Given the description of an element on the screen output the (x, y) to click on. 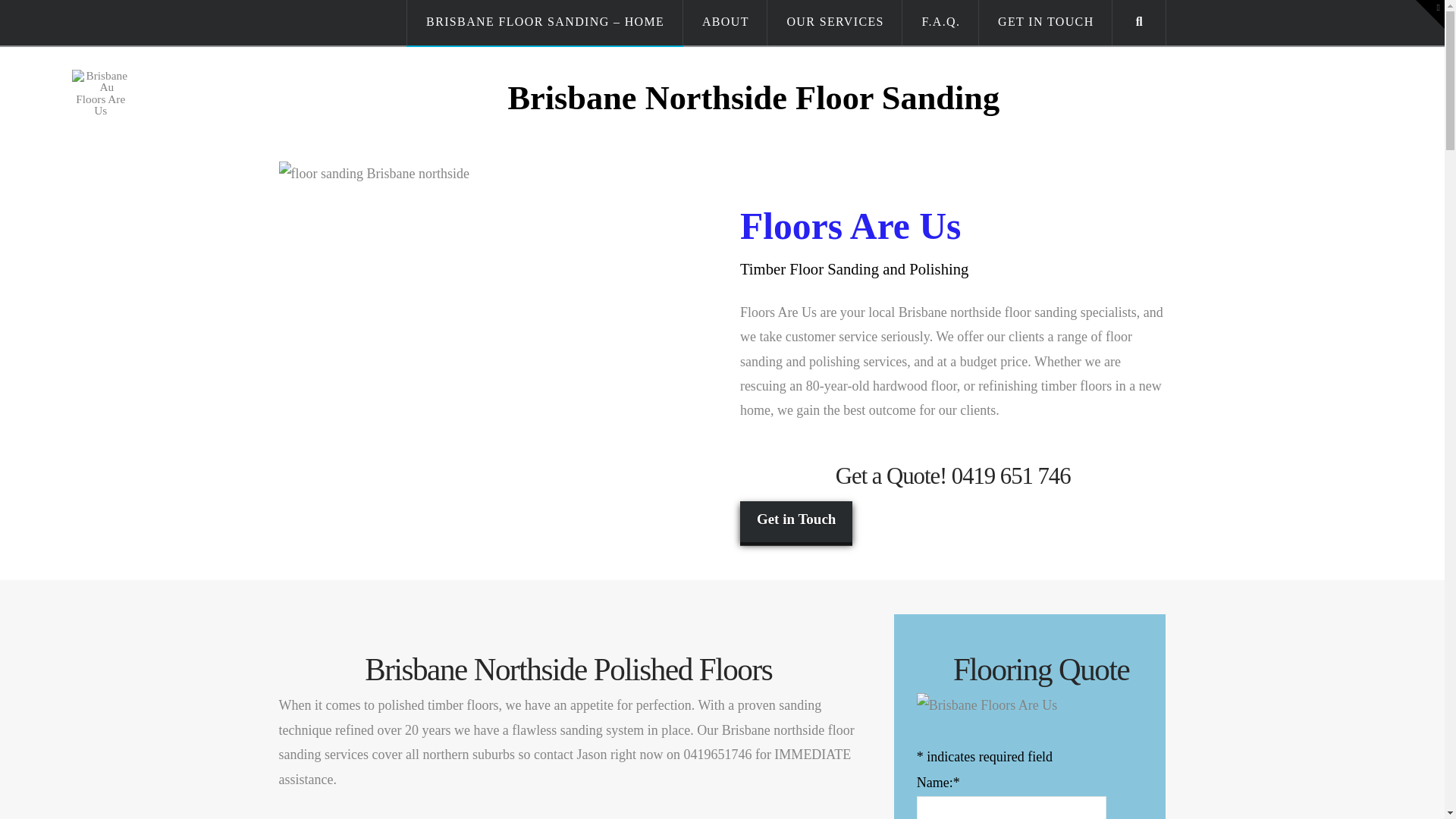
ABOUT Element type: text (725, 22)
Get in Touch Element type: text (796, 521)
GET IN TOUCH Element type: text (1045, 22)
Toggle the Widgetbar Element type: text (1429, 14)
F.A.Q. Element type: text (940, 22)
OUR SERVICES Element type: text (834, 22)
